Given the description of an element on the screen output the (x, y) to click on. 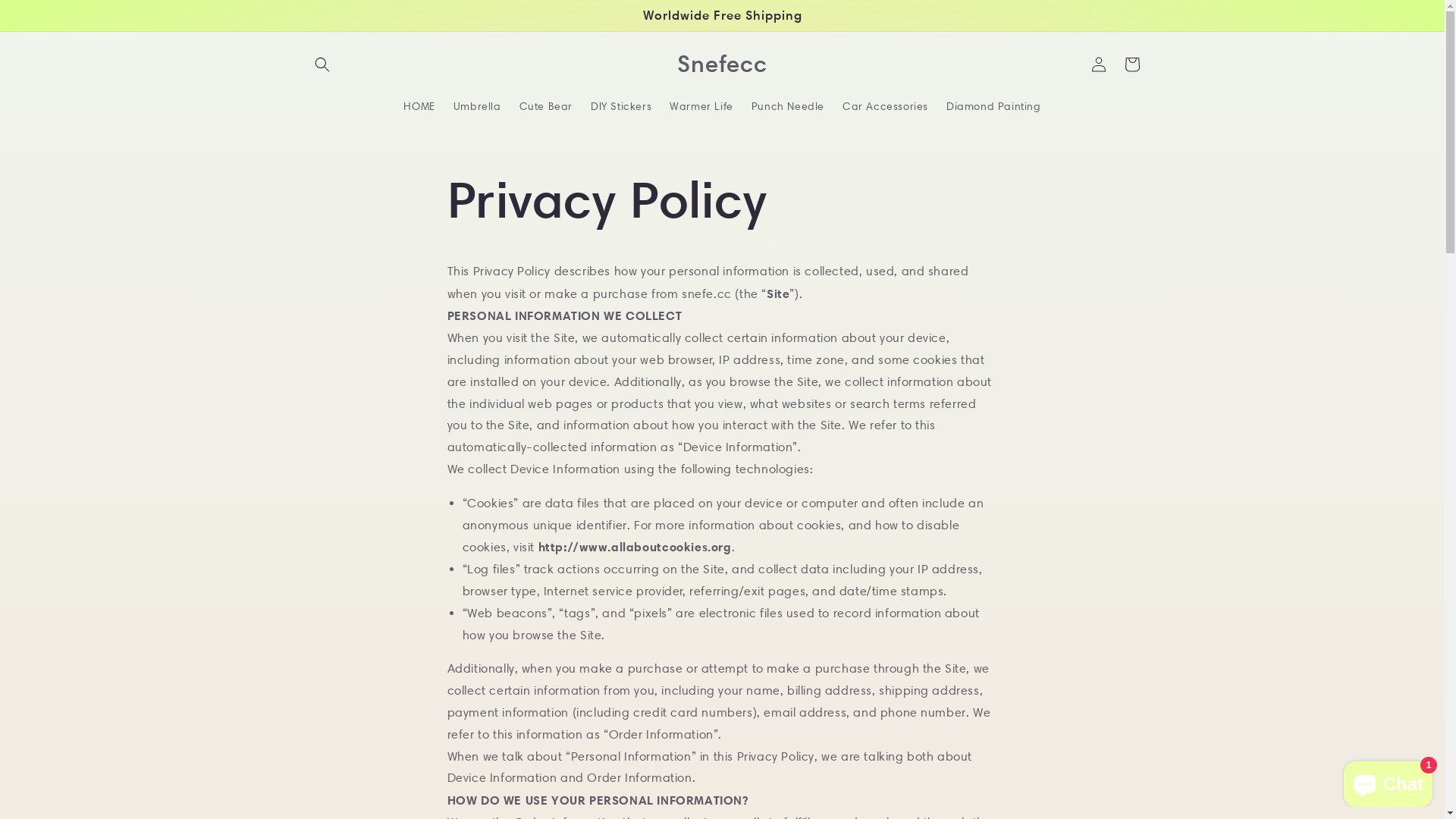
Car Accessories Element type: text (885, 105)
Diamond Painting Element type: text (993, 105)
Log in Element type: text (1097, 64)
Umbrella Element type: text (477, 105)
Snefecc Element type: text (721, 64)
Cart Element type: text (1131, 64)
Shopify online store chat Element type: hover (1388, 780)
Cute Bear Element type: text (545, 105)
DIY Stickers Element type: text (620, 105)
HOME Element type: text (418, 105)
Punch Needle Element type: text (787, 105)
Warmer Life Element type: text (701, 105)
